Given the description of an element on the screen output the (x, y) to click on. 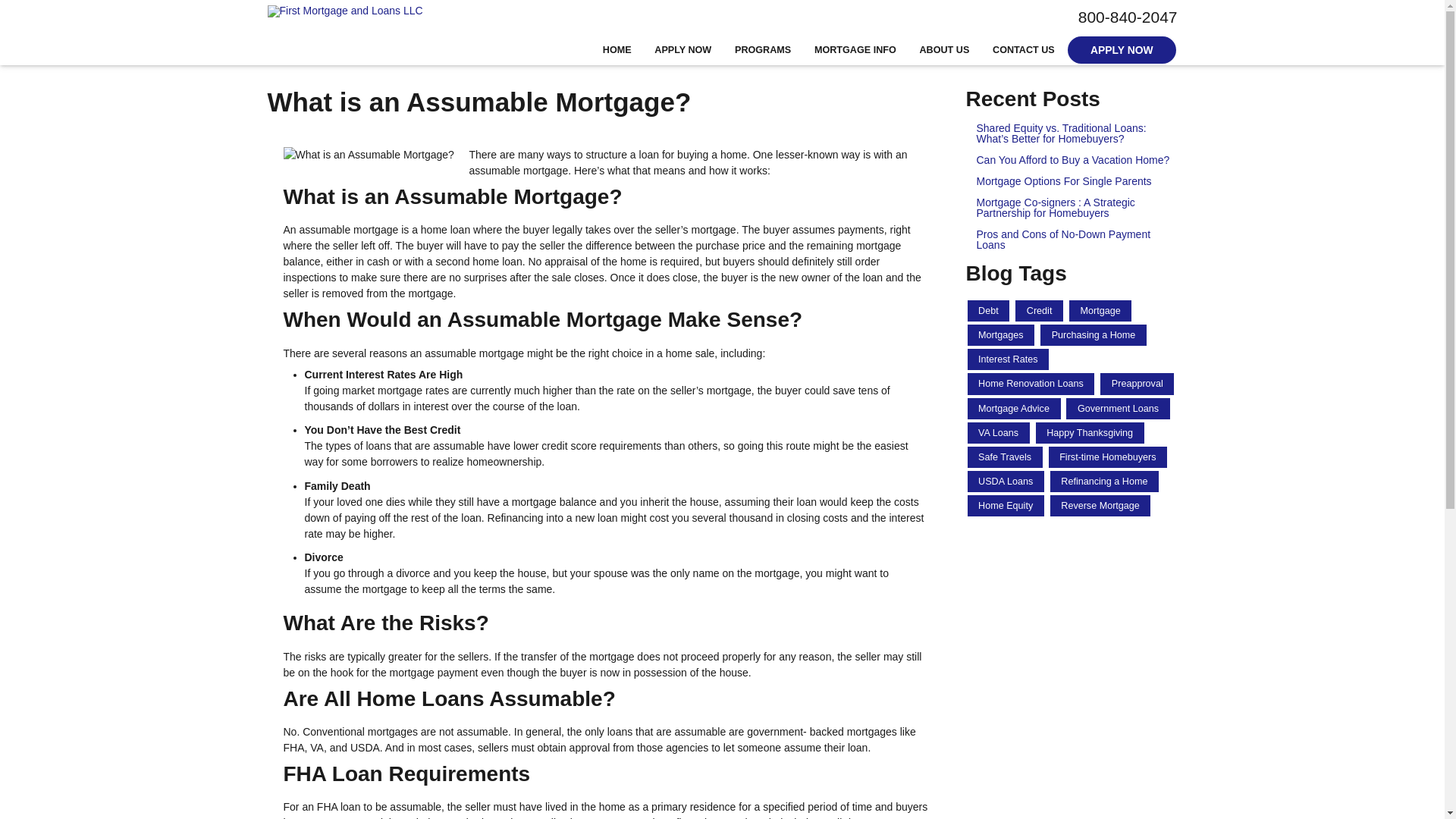
Debt (989, 310)
ABOUT US (944, 50)
HOME (617, 50)
MORTGAGE INFO (855, 50)
Credit (1038, 310)
Mortgages (1001, 334)
Mortgage Co-signers : A Strategic Partnership for Homebuyers (1071, 207)
Mortgage (1099, 310)
Mortgage Options For Single Parents (1071, 181)
CONTACT US (1023, 50)
Pros and Cons of No-Down Payment Loans (1071, 239)
APPLY NOW (1120, 50)
Interest Rates (1008, 359)
Can You Afford to Buy a Vacation Home? (1071, 159)
PROGRAMS (763, 50)
